Given the description of an element on the screen output the (x, y) to click on. 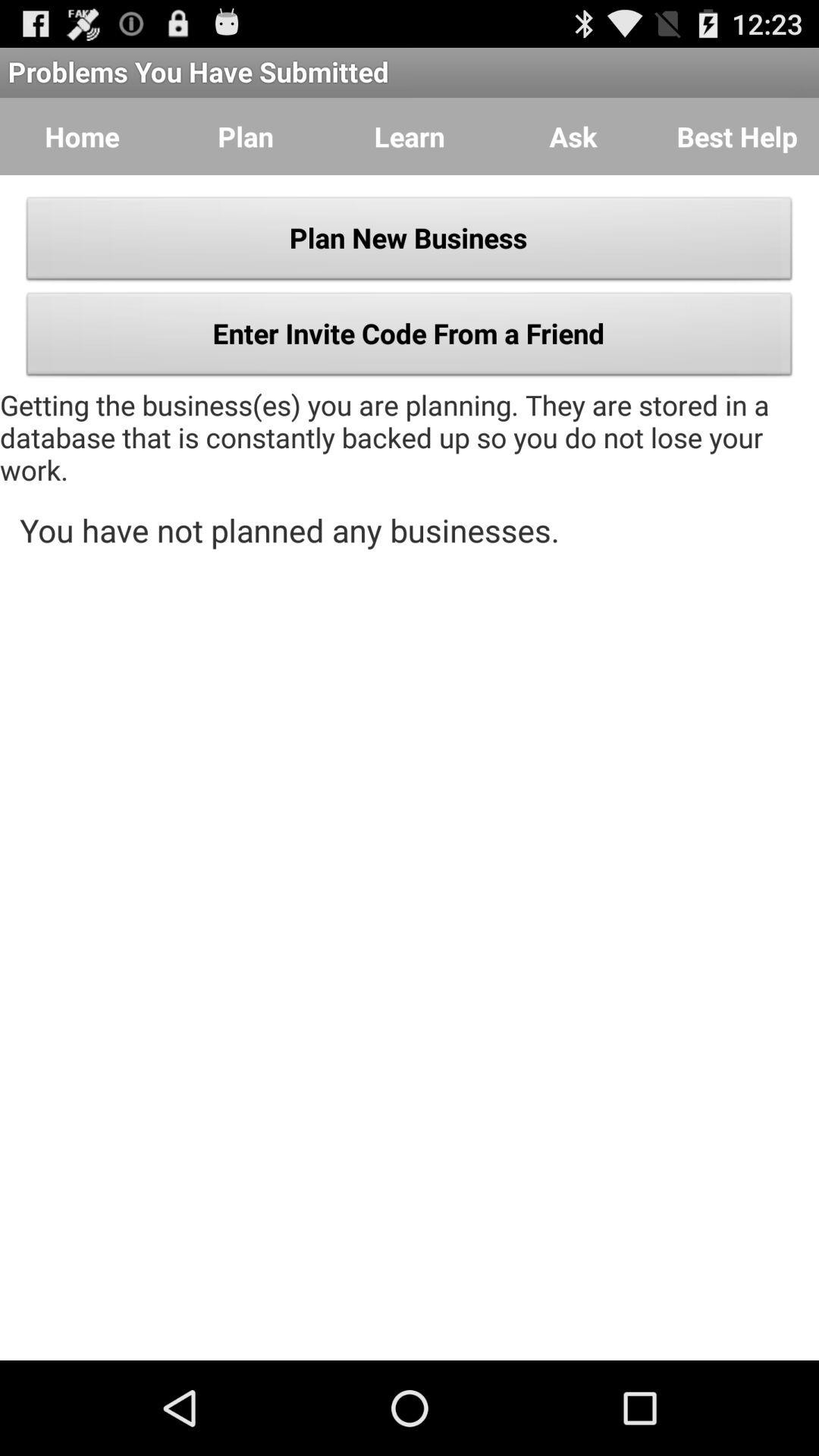
turn off the learn (409, 136)
